Given the description of an element on the screen output the (x, y) to click on. 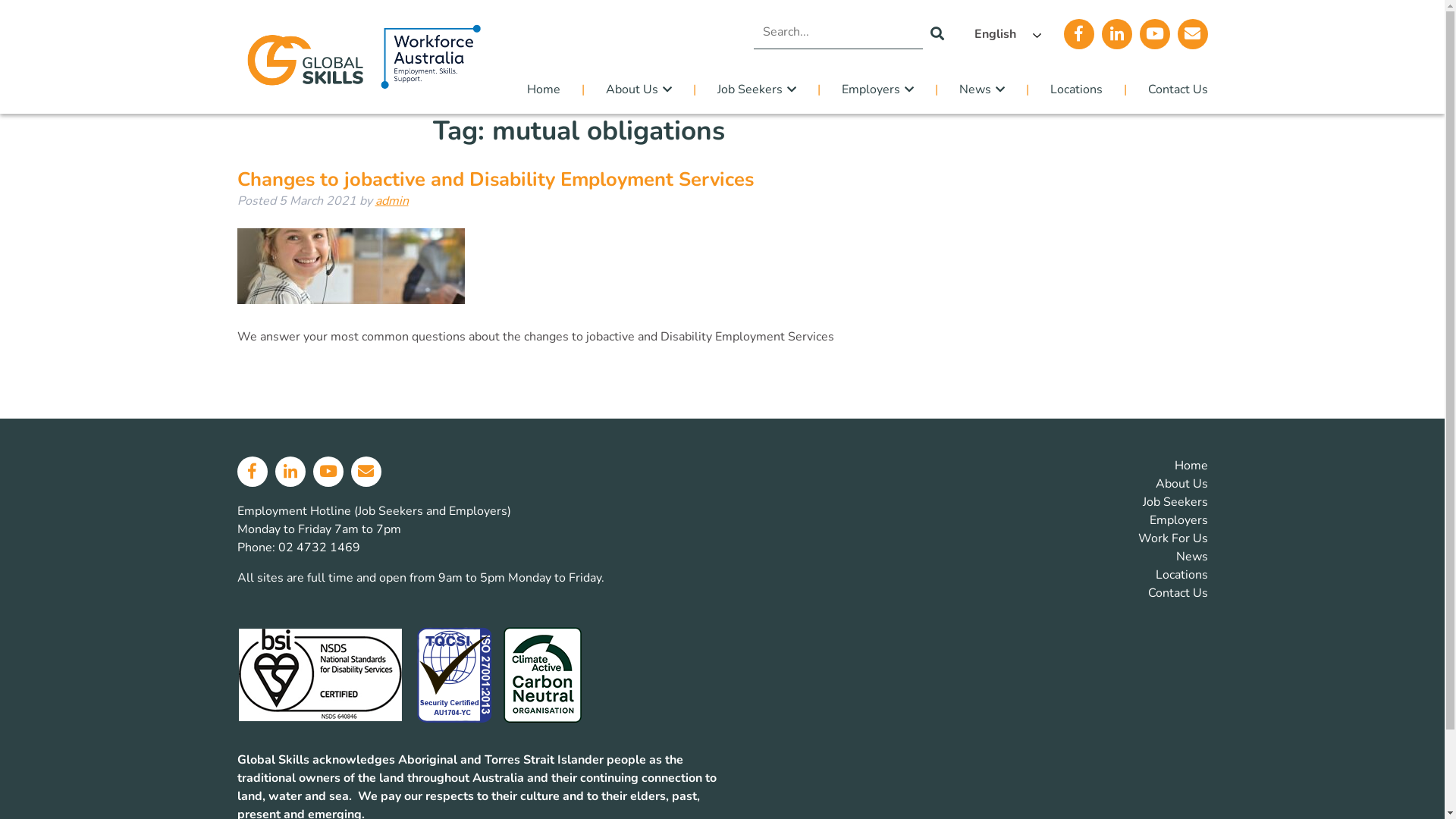
About Us Element type: text (636, 89)
Employers Element type: text (876, 89)
Locations Element type: text (1074, 89)
About Us Element type: text (1181, 483)
Locations Element type: text (1181, 574)
Contact Us Element type: text (1178, 592)
admin Element type: text (390, 200)
Job Seekers Element type: text (1174, 501)
Changes to jobactive and Disability Employment Services Element type: text (494, 179)
Work For Us Element type: text (1172, 538)
Job Seekers Element type: text (755, 89)
News Element type: text (1191, 556)
Employers Element type: text (1178, 519)
Home Element type: text (1190, 465)
02 4732 1469 Element type: text (318, 547)
Contact Us Element type: text (1165, 89)
News Element type: text (979, 89)
Home Element type: text (553, 89)
